Given the description of an element on the screen output the (x, y) to click on. 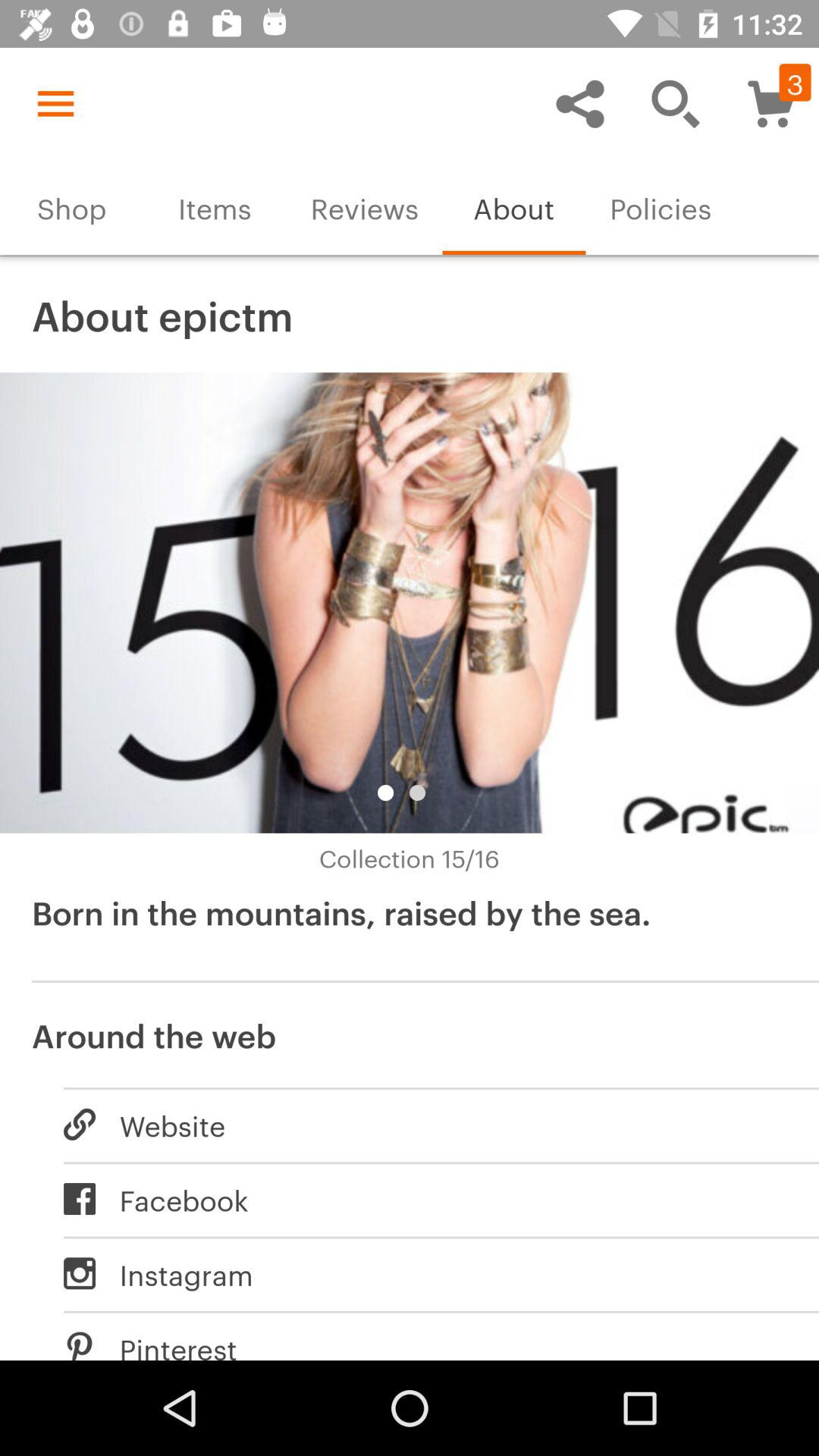
turn off the icon below around the web (425, 1124)
